Given the description of an element on the screen output the (x, y) to click on. 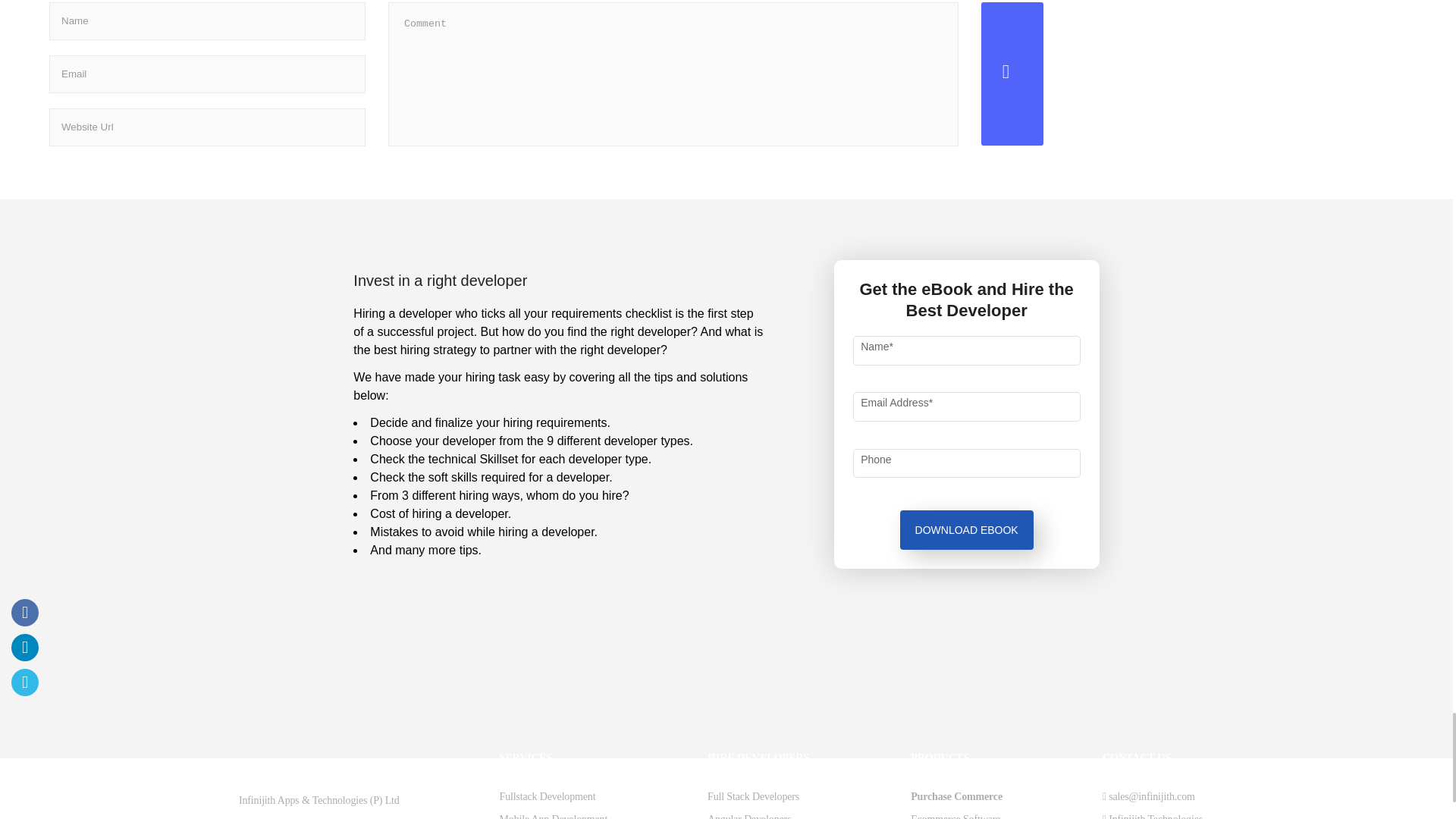
DOWNLOAD EBOOK (966, 529)
Full Stack Developers (753, 796)
Angular Developers (748, 816)
Mobile App Development (553, 816)
Fullstack Development (547, 796)
